Given the description of an element on the screen output the (x, y) to click on. 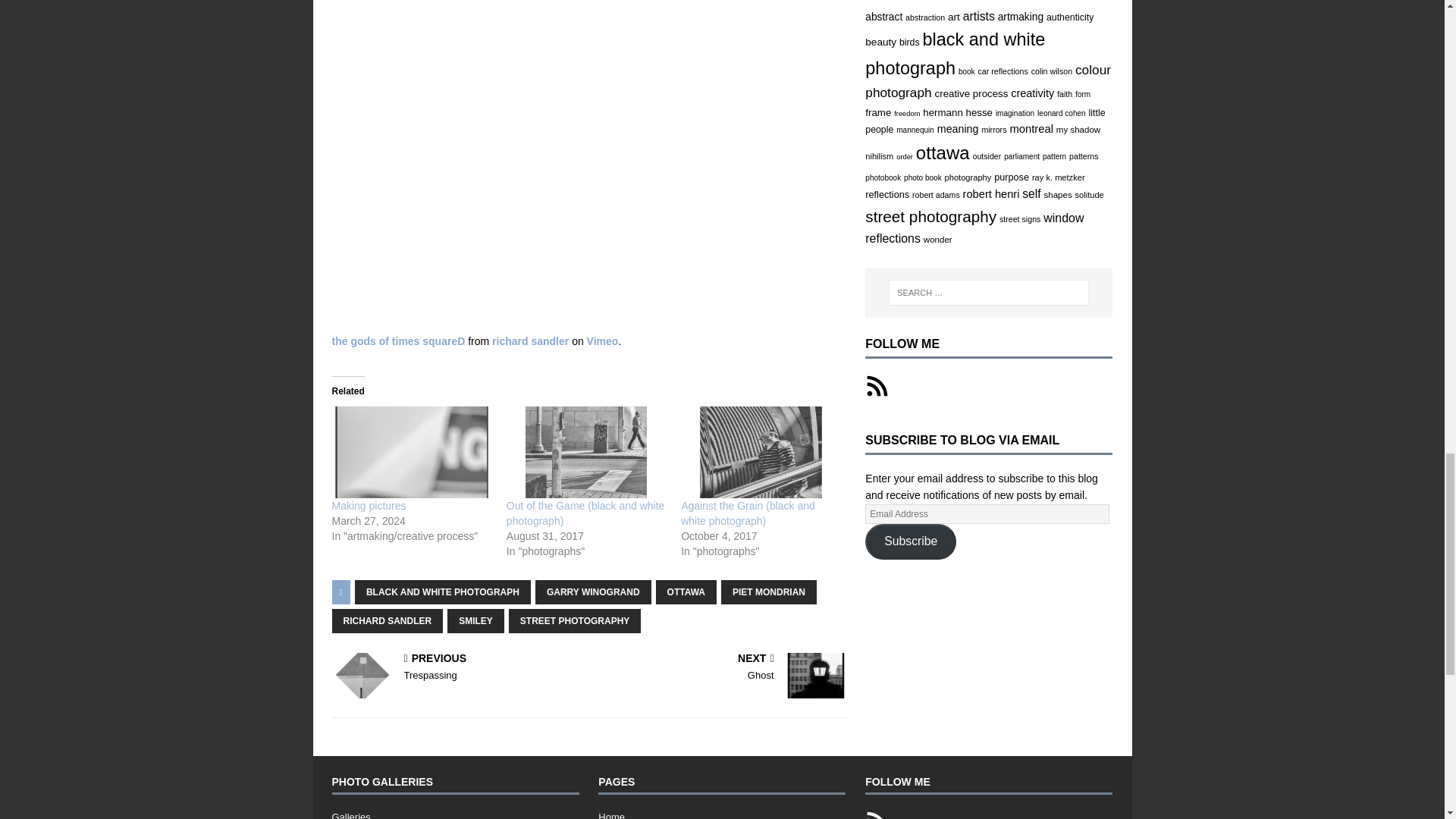
Making pictures (411, 451)
richard sandler (530, 340)
the gods of times squareD (398, 340)
Making pictures (368, 505)
